Given the description of an element on the screen output the (x, y) to click on. 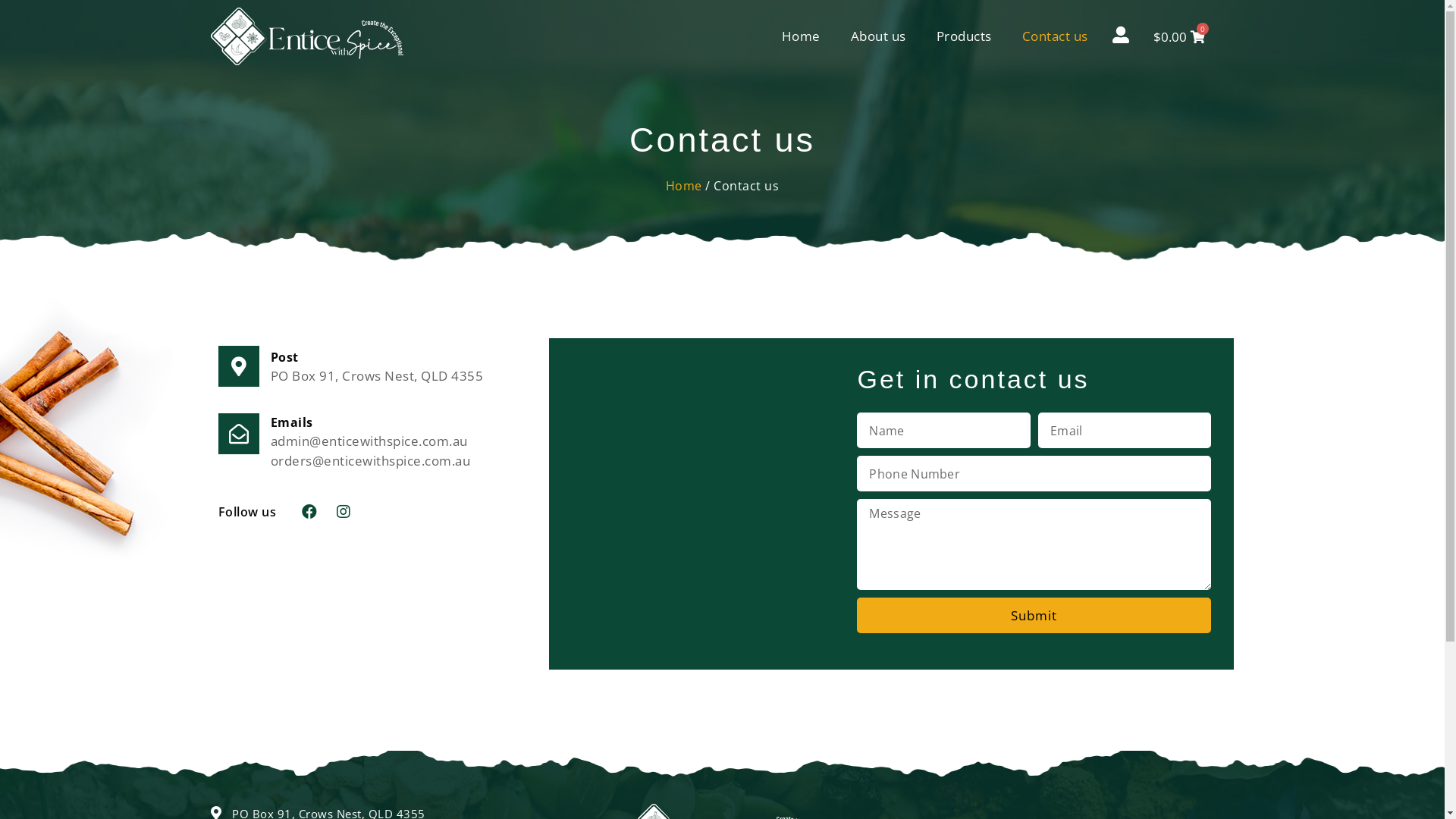
admin@enticewithspice.com.au Element type: text (368, 440)
Submit Element type: text (1033, 615)
Home Element type: text (800, 36)
Contact us Element type: text (1055, 36)
$0.00
0 Element type: text (1178, 36)
About us Element type: text (878, 36)
orders@enticewithspice.com.au Element type: text (369, 460)
Home Element type: text (683, 185)
Products Element type: text (963, 36)
